Given the description of an element on the screen output the (x, y) to click on. 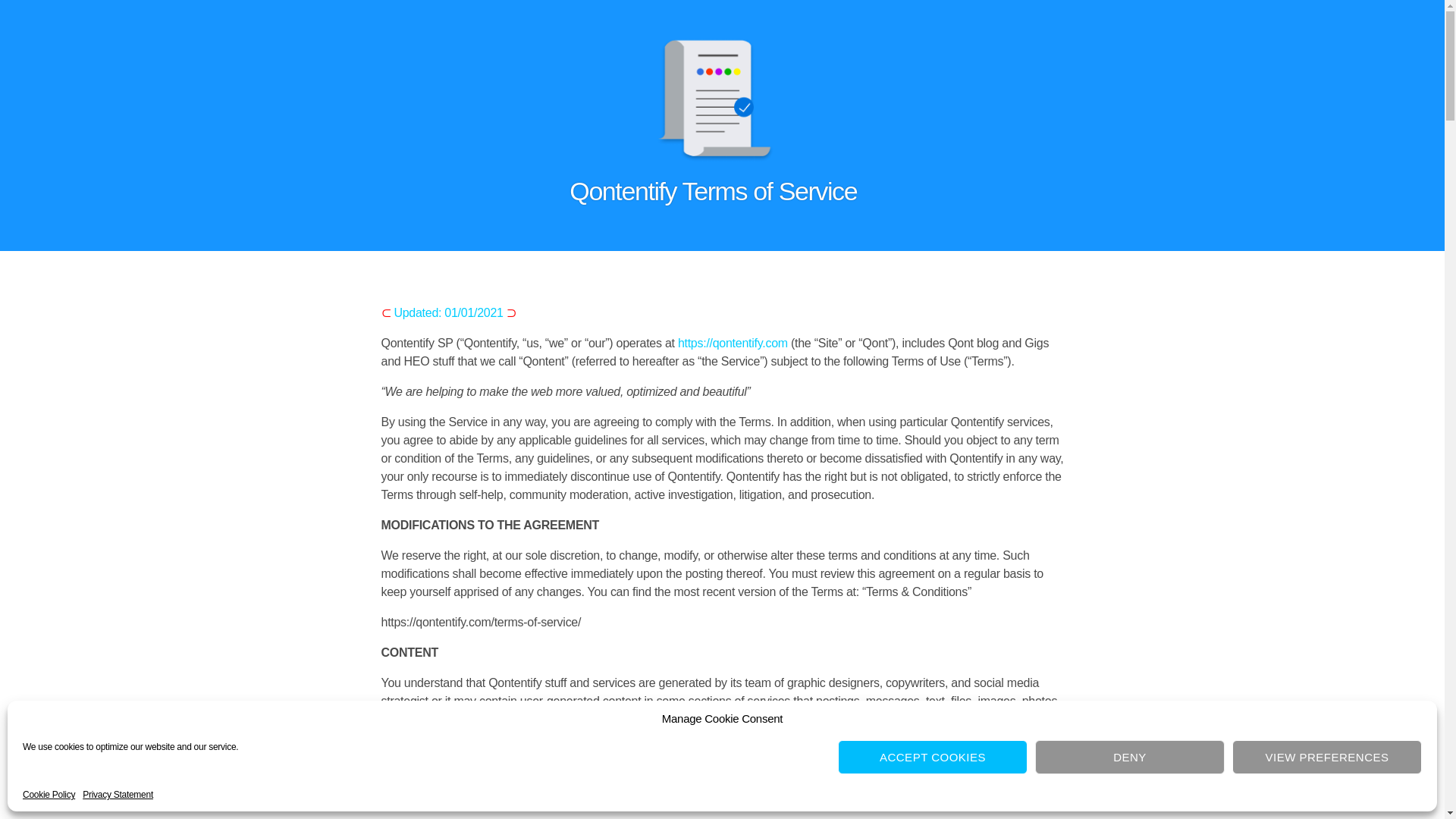
Privacy Statement (117, 794)
ACCEPT COOKIES (932, 756)
VIEW PREFERENCES (1326, 756)
DENY (1129, 756)
Cookie Policy (49, 794)
